Given the description of an element on the screen output the (x, y) to click on. 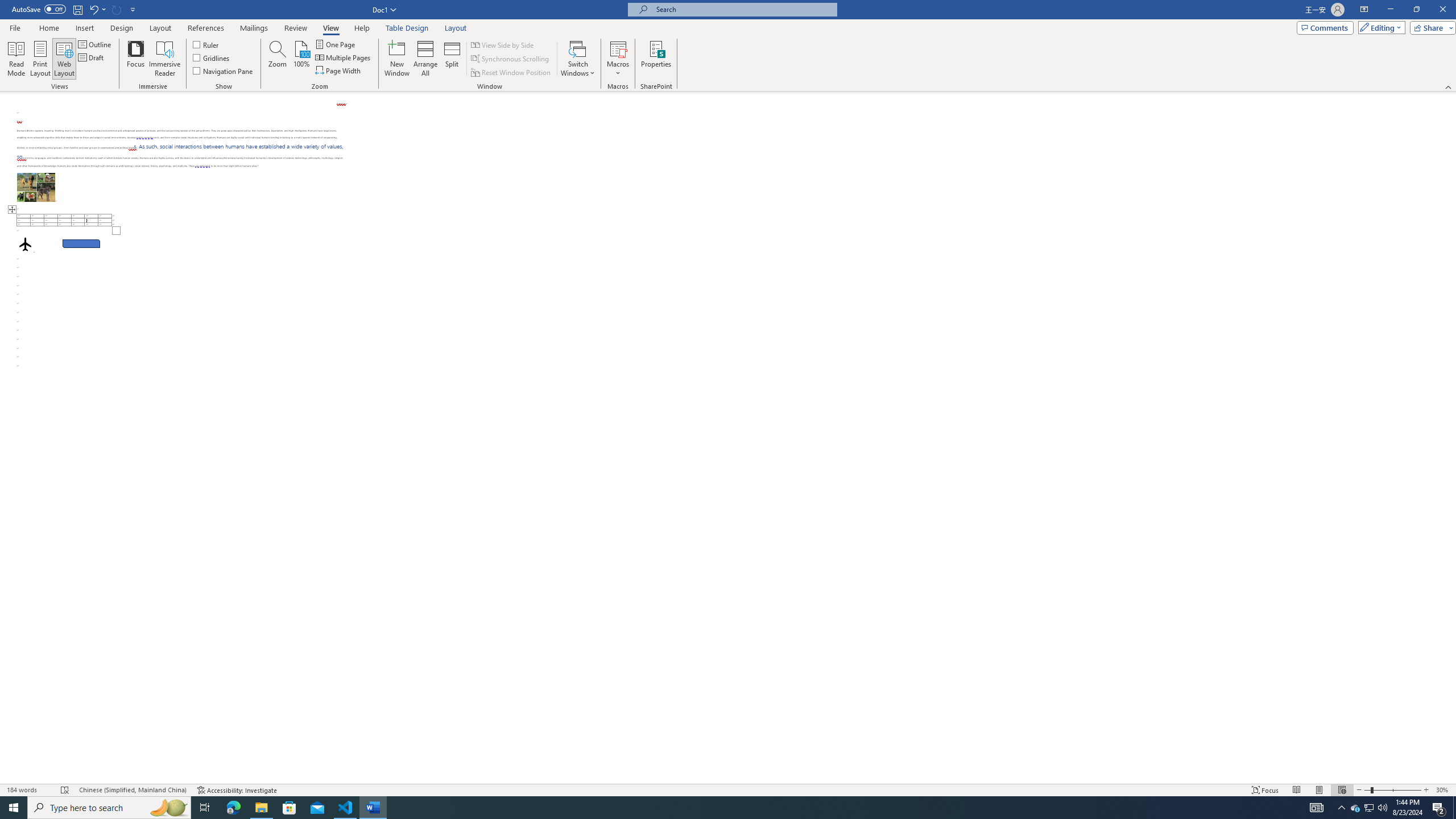
Home (48, 28)
Focus (135, 58)
Zoom 30% (1443, 790)
Class: MsoCommandBar (728, 45)
Minimize (1390, 9)
References (205, 28)
Microsoft search (742, 9)
File Tab (15, 27)
Design (122, 28)
Quick Access Toolbar (74, 9)
AutoSave (38, 9)
Print Layout (40, 58)
